Given the description of an element on the screen output the (x, y) to click on. 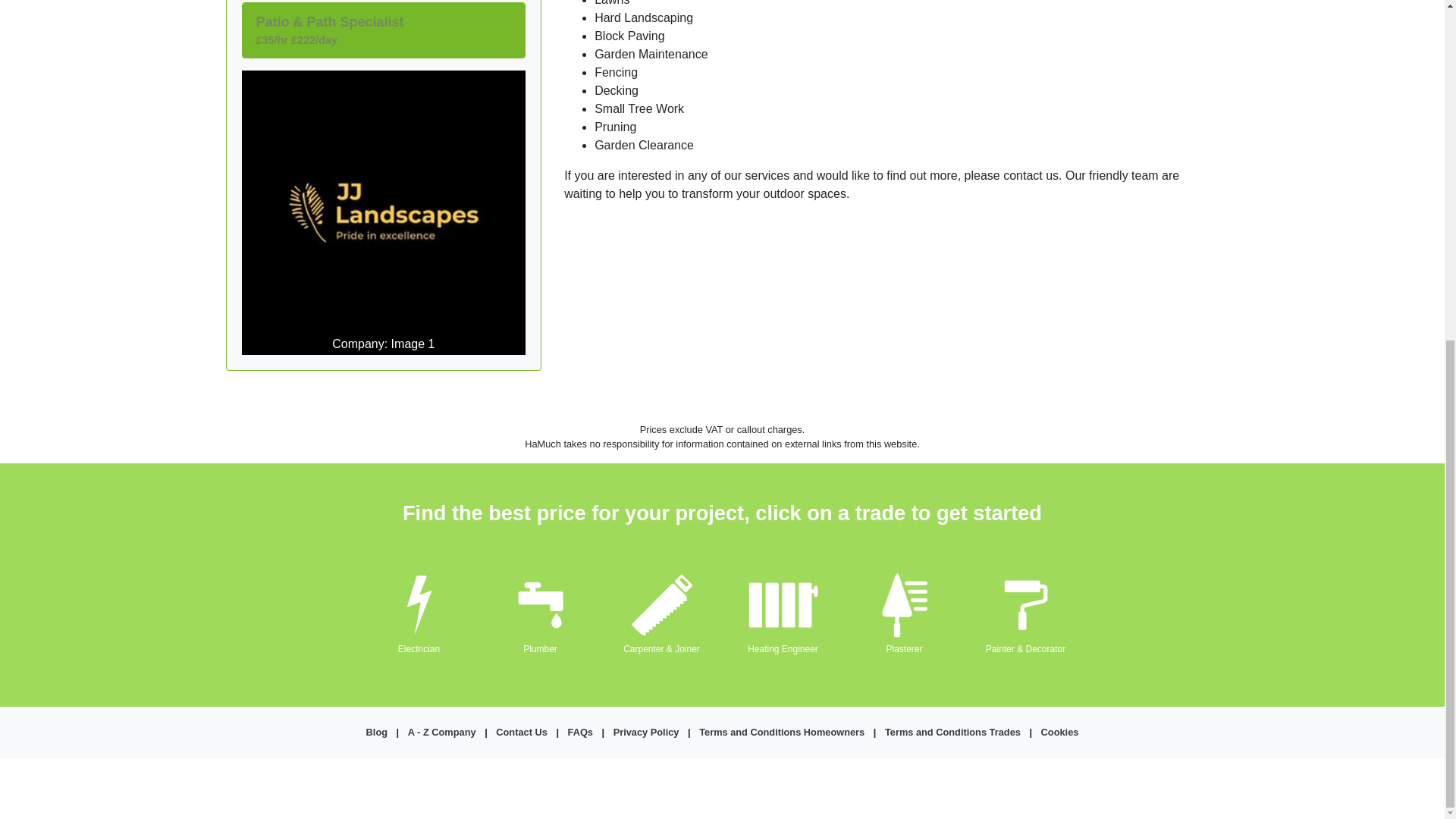
Heating Engineers with rates to get quotes (783, 648)
Electricians with rates to get quotes (418, 648)
Privacy Policy (645, 731)
FAQs (579, 731)
Terms and Conditions Trades (952, 731)
Plasterers with rates to get quotes (903, 648)
A - Z Company (441, 731)
Company: Image 1 (383, 212)
Blog (376, 731)
Electrician (418, 648)
Plumber (539, 648)
Terms and Conditions Homeowners (781, 731)
Plumbers with rates to get quotes (539, 648)
Cookies (1059, 731)
Plasterer (903, 648)
